Given the description of an element on the screen output the (x, y) to click on. 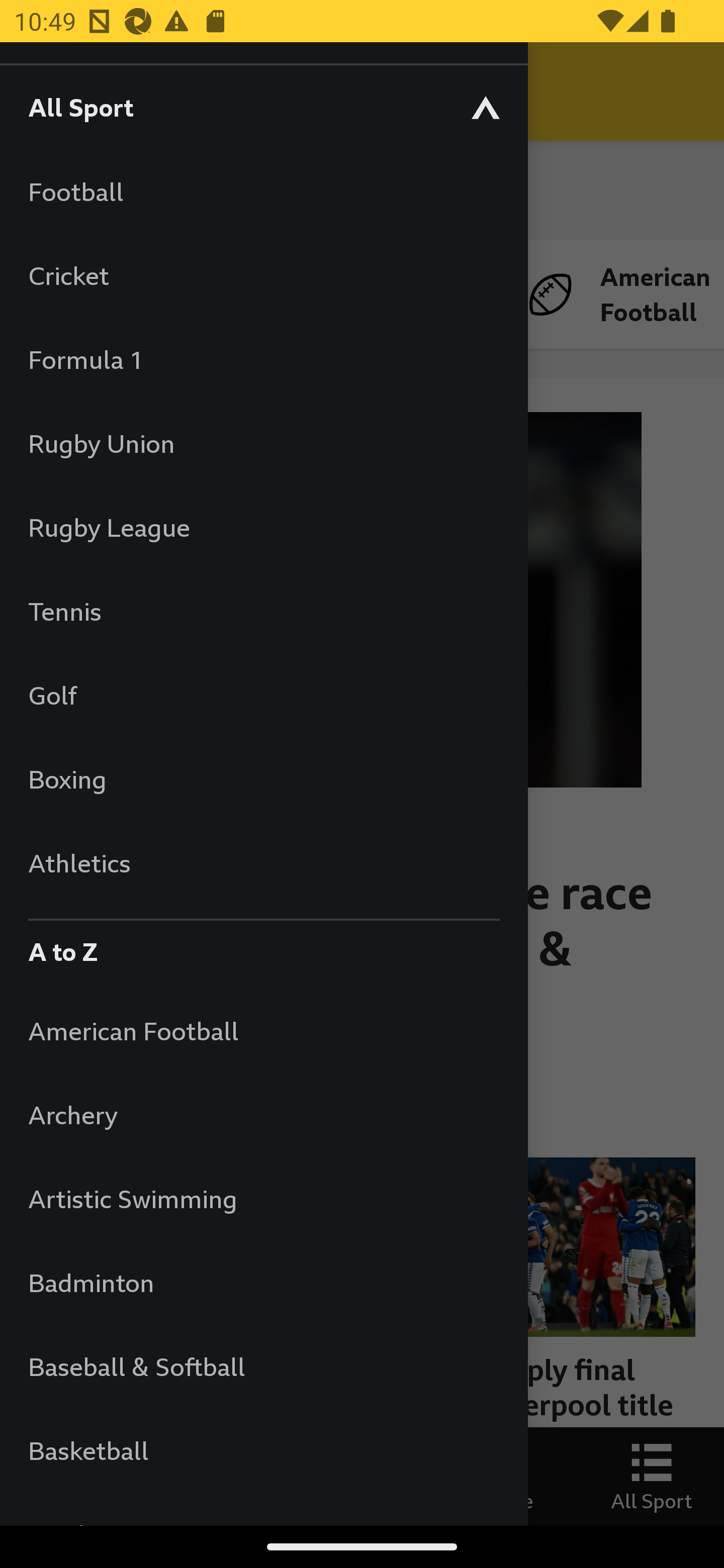
All Sport (263, 106)
Football (263, 190)
Cricket (263, 275)
Formula 1 (263, 358)
Rugby Union (263, 443)
Rugby League (263, 526)
Tennis (263, 611)
Golf (263, 694)
Boxing (263, 778)
Athletics (263, 862)
A to Z (263, 946)
American Football (263, 1029)
Archery (263, 1114)
Artistic Swimming (263, 1198)
Badminton (263, 1282)
Baseball & Softball (263, 1366)
Basketball (263, 1450)
